Given the description of an element on the screen output the (x, y) to click on. 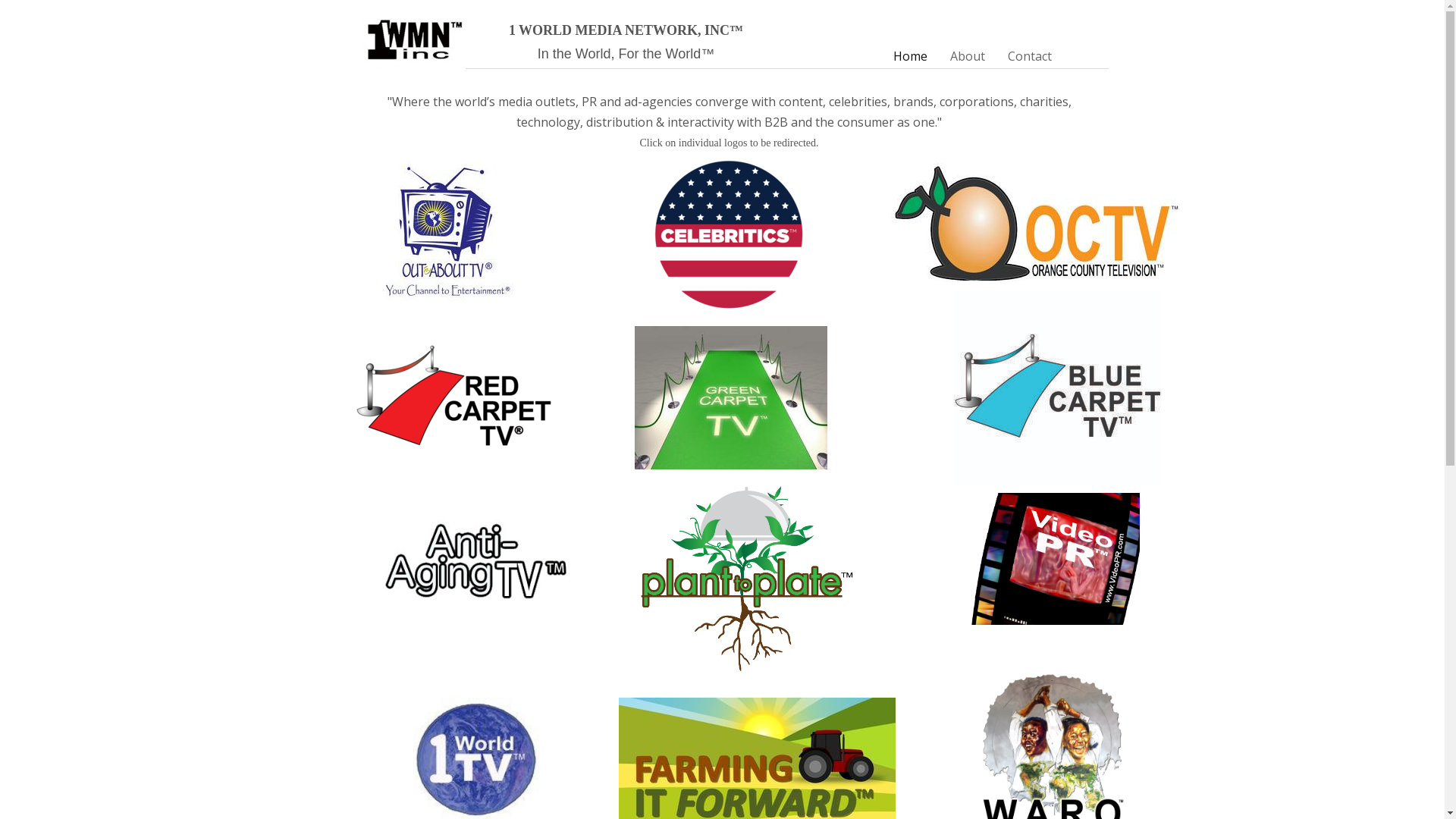
About Element type: text (967, 56)
Contact Element type: text (1029, 56)
Home Element type: text (909, 56)
